Given the description of an element on the screen output the (x, y) to click on. 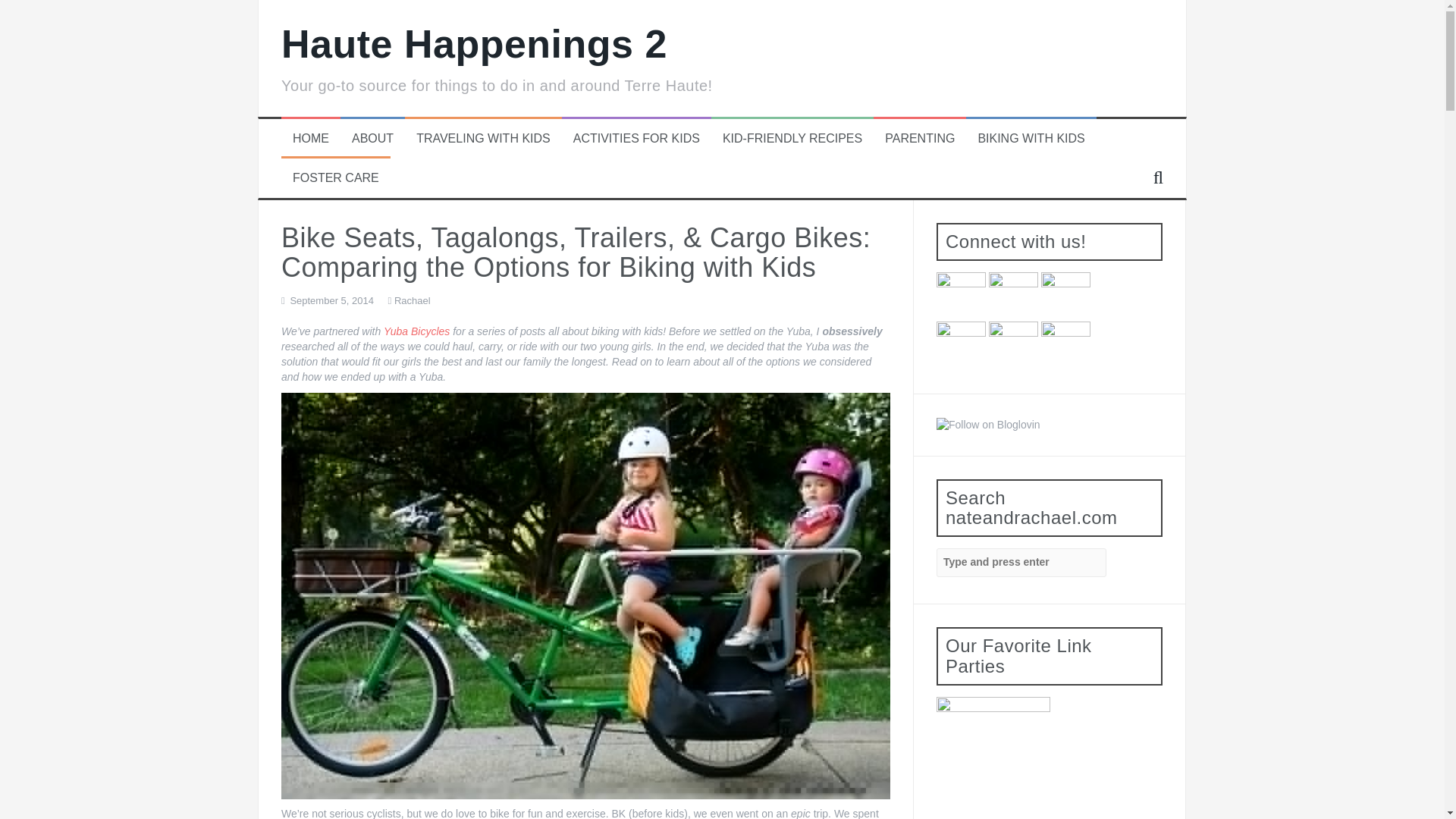
KID-FRIENDLY RECIPES (791, 139)
Search for: (1021, 562)
TRAVELING WITH KIDS (483, 139)
Are you obsessed with pinterest, too? (1065, 296)
Email us directly (1065, 346)
PARENTING (920, 139)
HOME (310, 139)
Join the conversation on facebook (1013, 296)
Yuba Bicycles (416, 331)
 See more on Instagram (1013, 346)
